Given the description of an element on the screen output the (x, y) to click on. 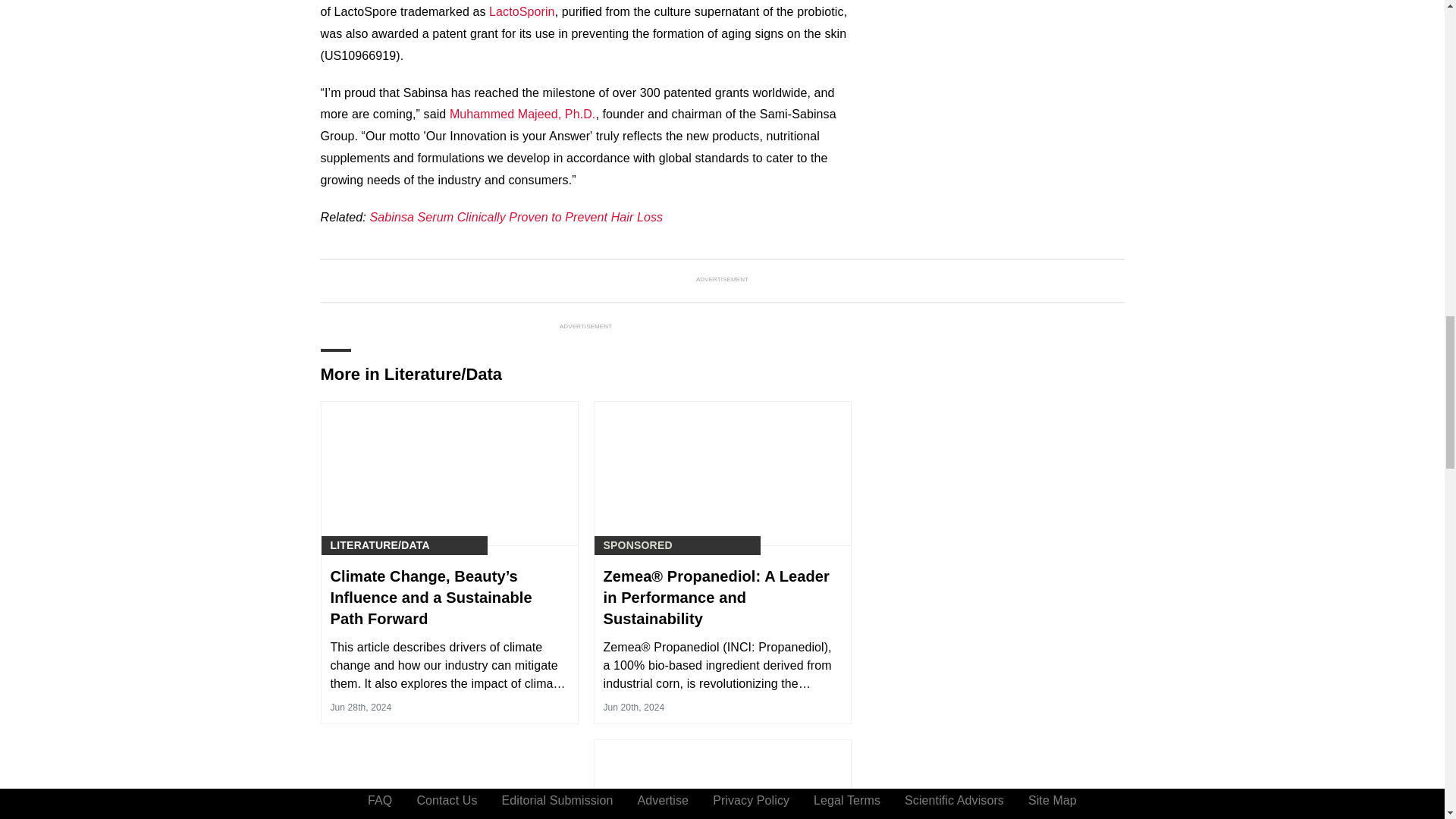
Sponsored (638, 545)
